Given the description of an element on the screen output the (x, y) to click on. 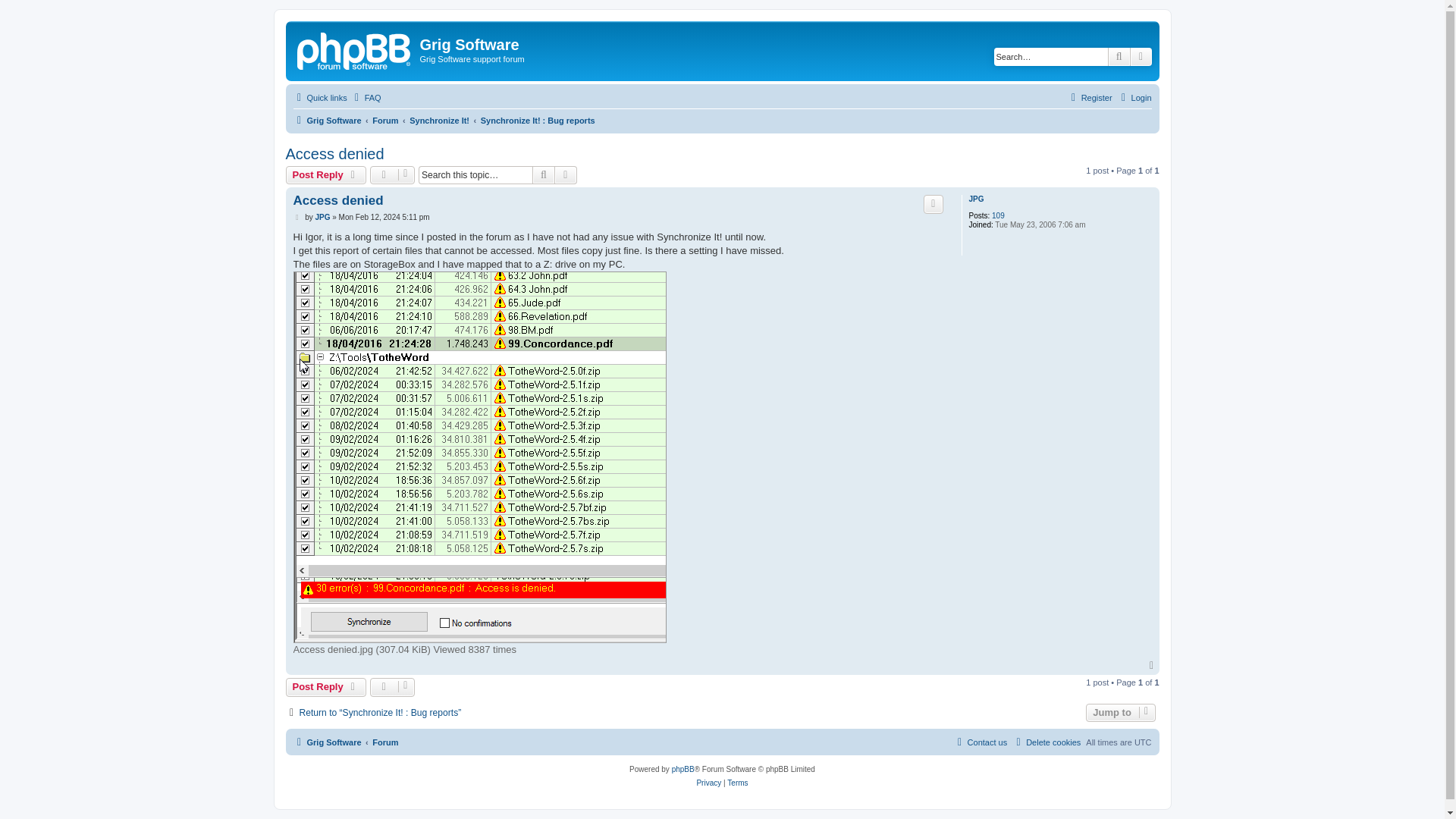
Post (297, 216)
JPG (322, 216)
Post Reply (325, 687)
Frequently Asked Questions (365, 97)
Advanced search (565, 175)
Login (1134, 97)
Forum (384, 120)
Synchronize It! : Bug reports (537, 120)
Synchronize It! (438, 120)
Grig Software (326, 120)
